Given the description of an element on the screen output the (x, y) to click on. 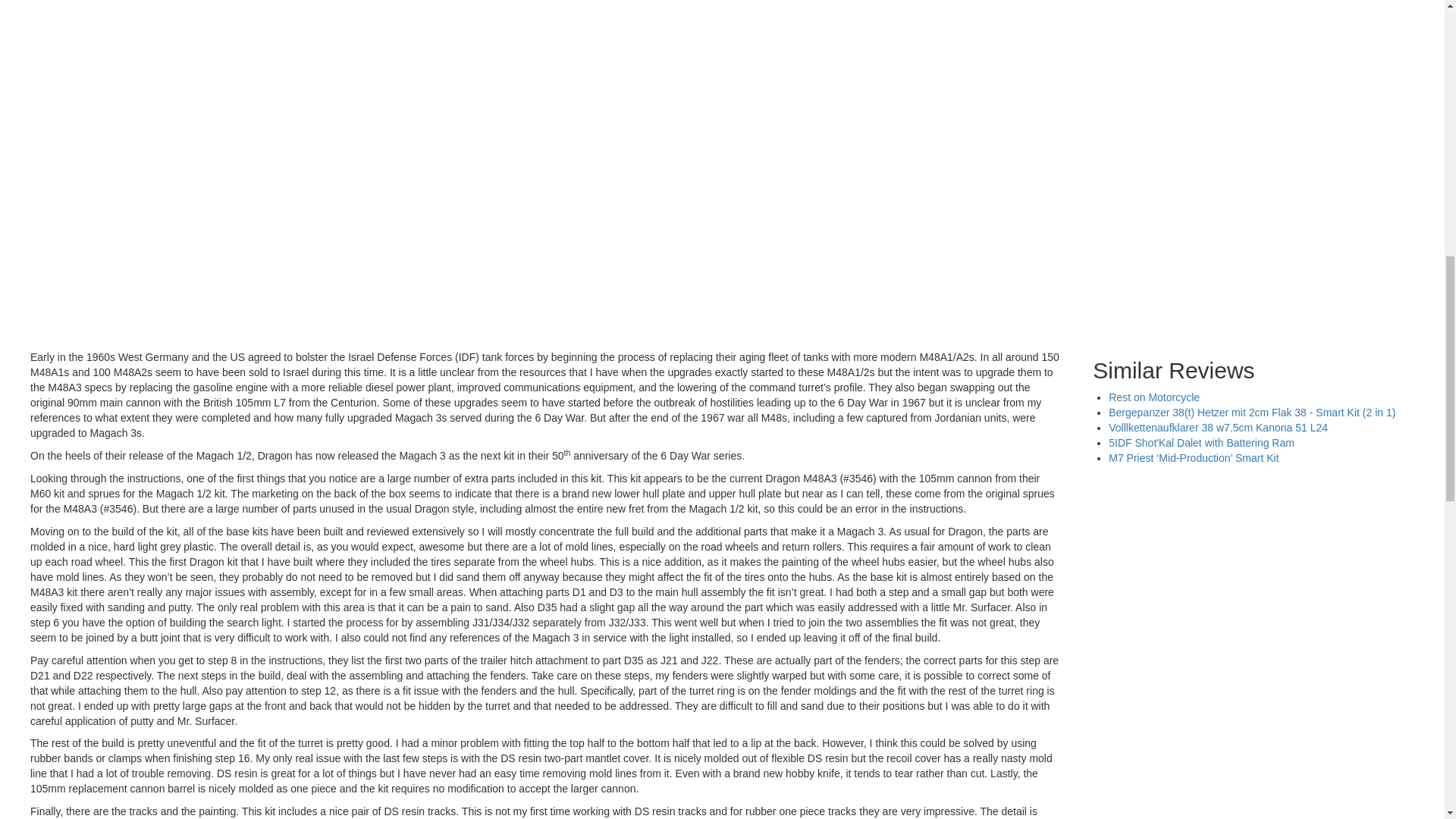
Rest on Motorcycle (1153, 397)
5IDF Shot'Kal Dalet with Battering Ram (1201, 442)
Volllkettenaufklarer 38 w7.5cm Kanona 51 L24 (1217, 427)
